Given the description of an element on the screen output the (x, y) to click on. 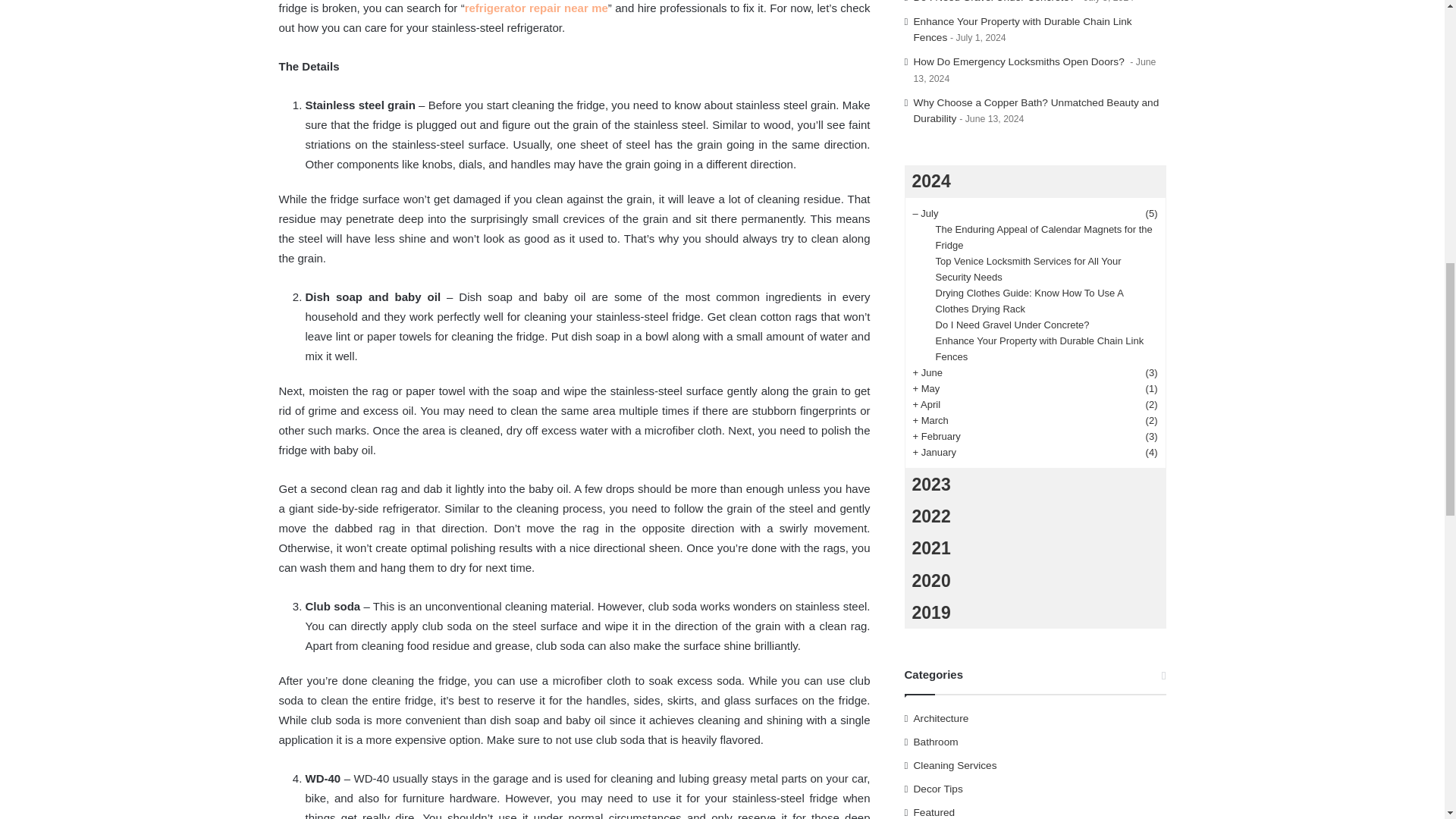
refrigerator repair near me (536, 7)
